Given the description of an element on the screen output the (x, y) to click on. 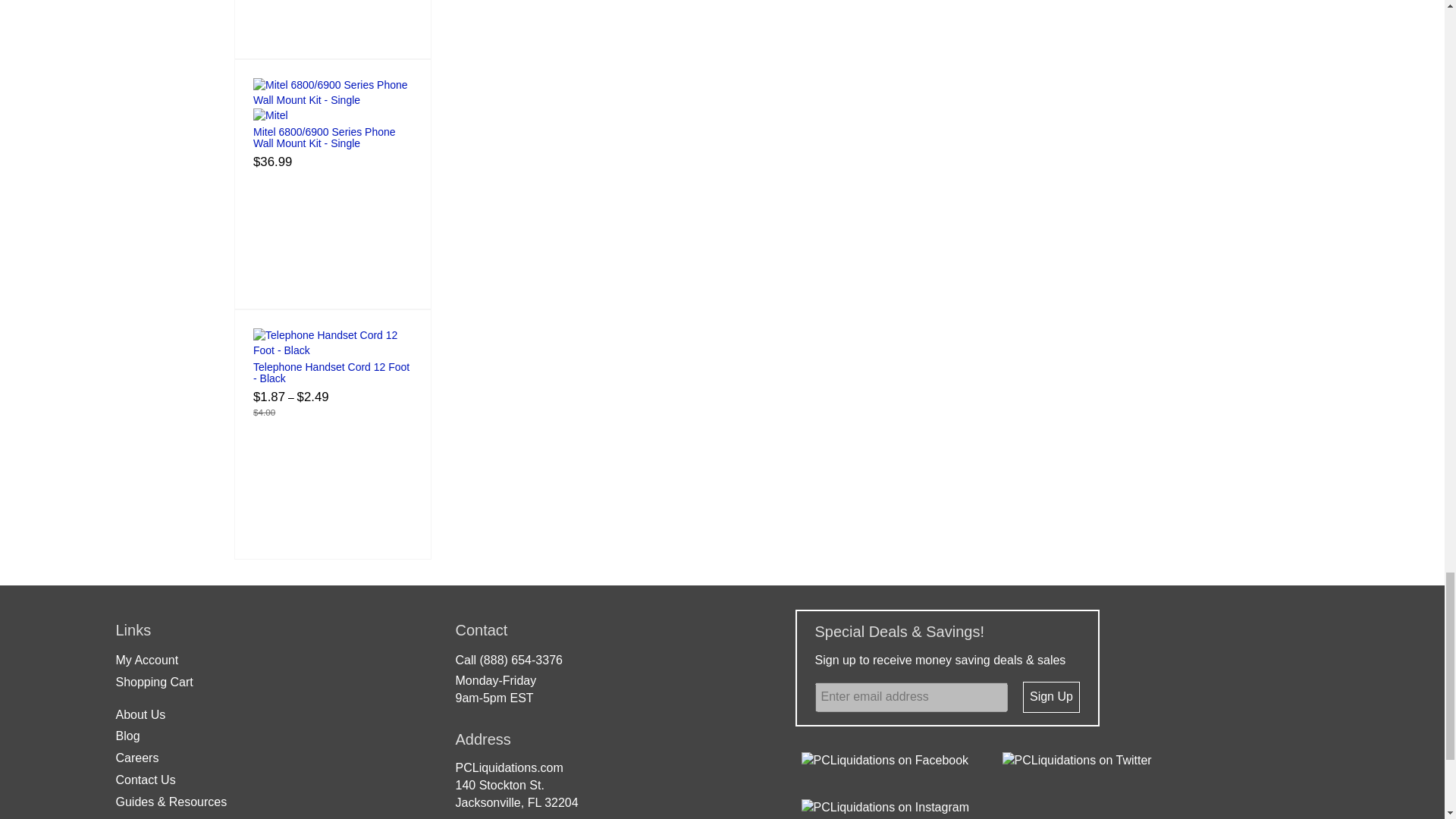
Sign Up (1051, 696)
